Given the description of an element on the screen output the (x, y) to click on. 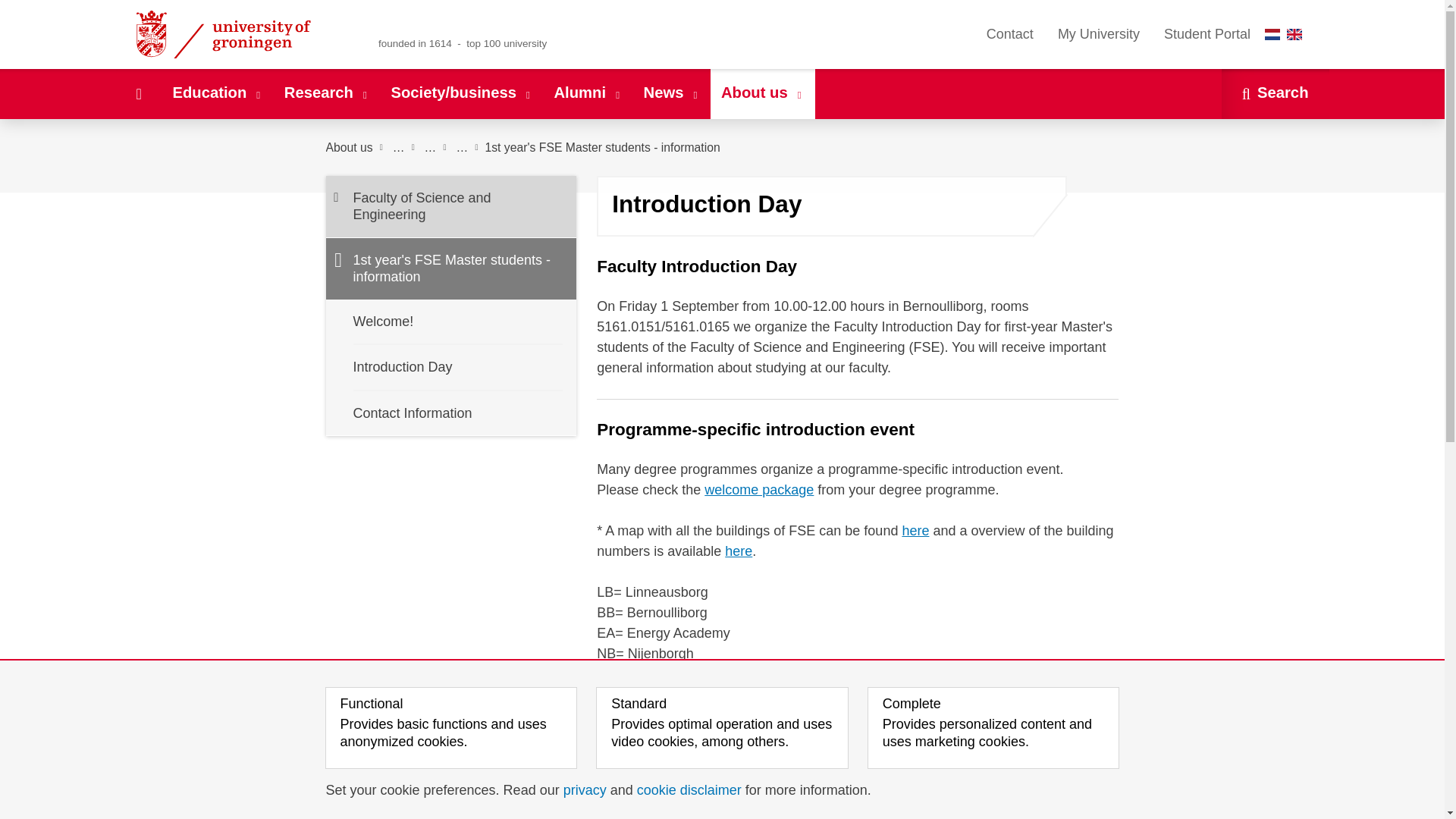
English (1293, 33)
Home (138, 93)
Education (217, 93)
My University (1098, 34)
Language select (1286, 34)
Research (326, 93)
Nederlands (1272, 33)
University of Groningen (241, 34)
Contact (1009, 34)
